Given the description of an element on the screen output the (x, y) to click on. 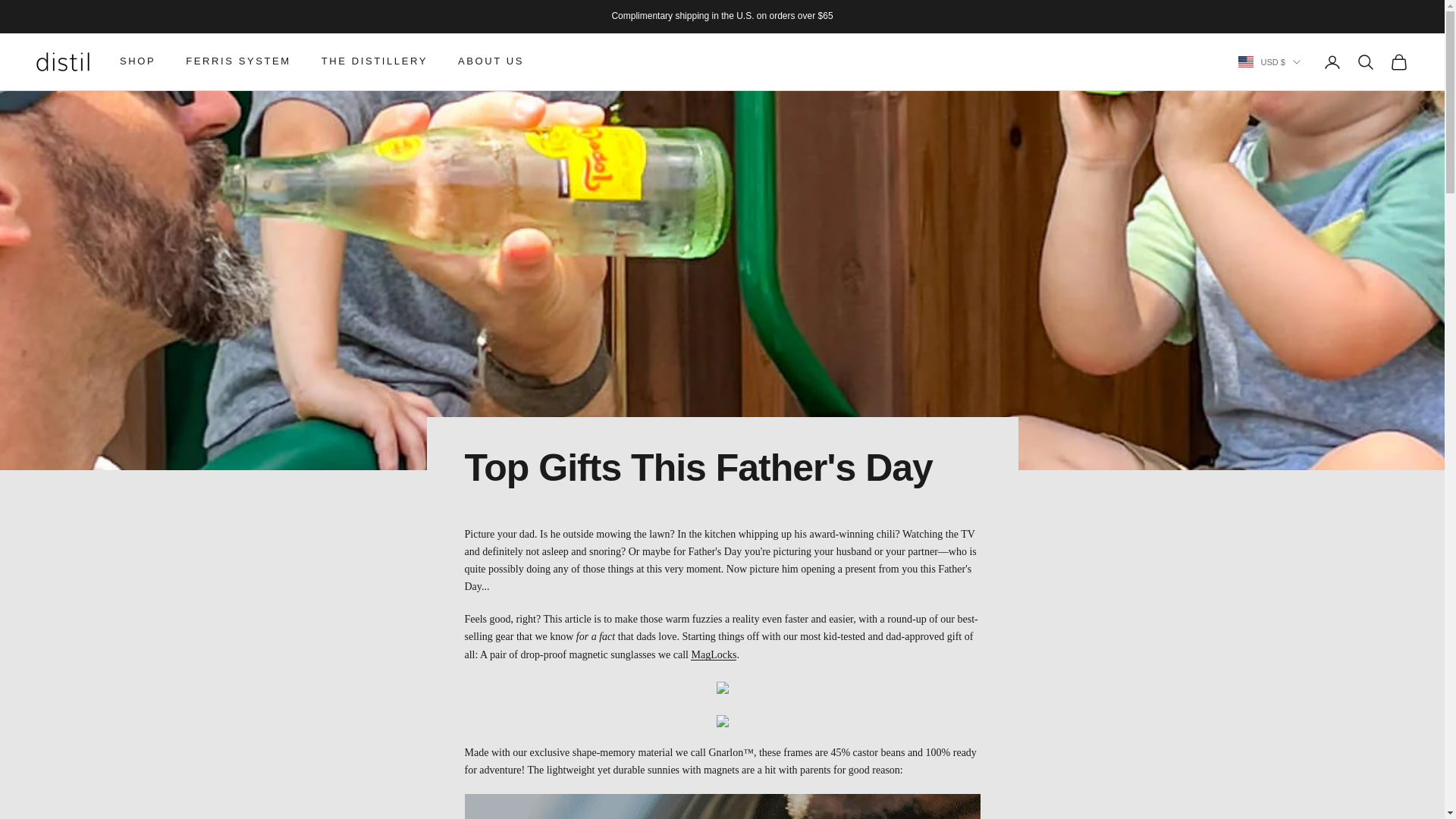
Distil Union MagLock magnetic flexible sunglasses (713, 654)
FERRIS SYSTEM (238, 61)
Distil Union (62, 61)
THE DISTILLERY (374, 61)
